Given the description of an element on the screen output the (x, y) to click on. 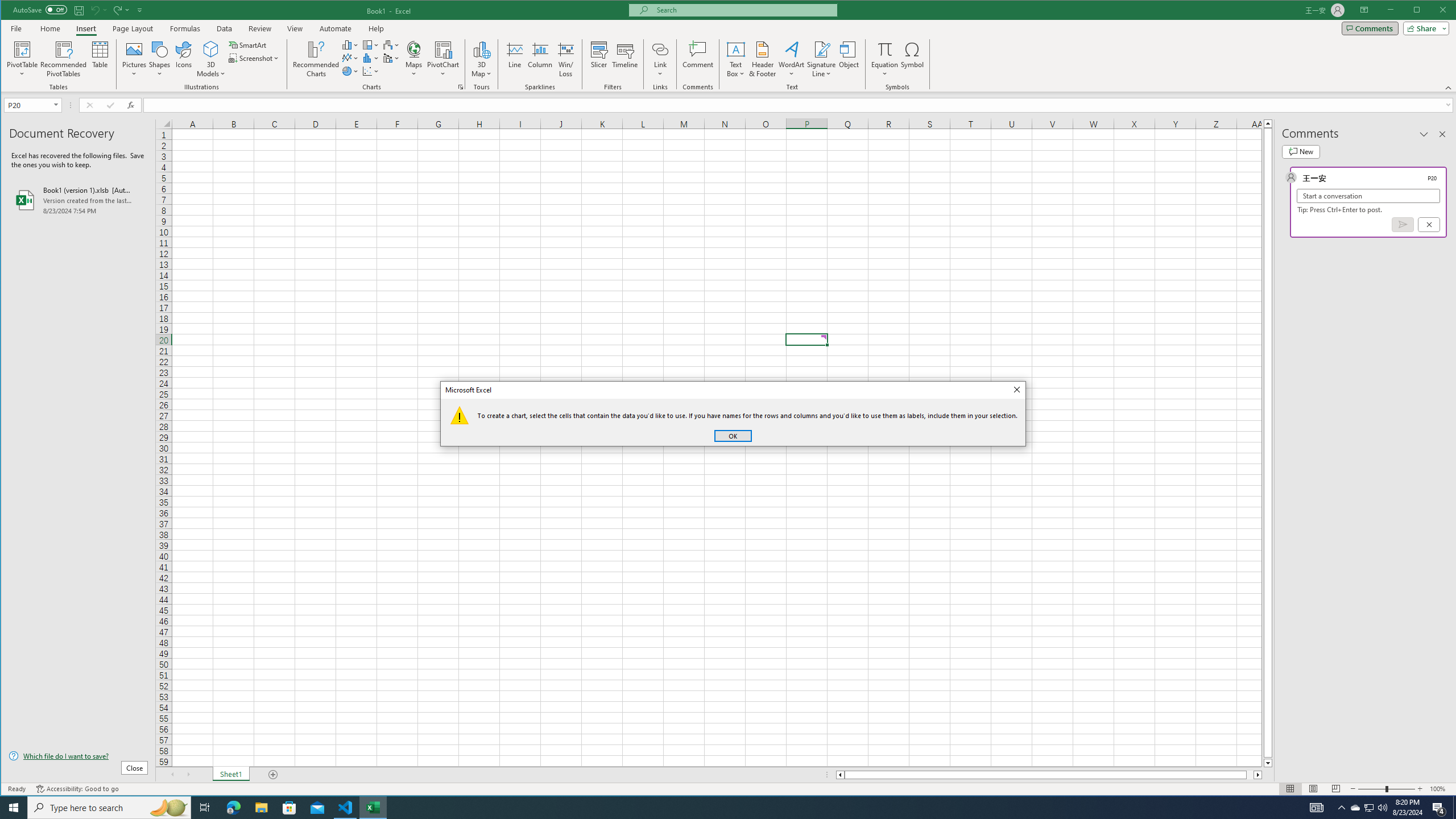
Insert Waterfall, Funnel, Stock, Surface, or Radar Chart (391, 44)
Ribbon Display Options (1364, 9)
Icons (183, 59)
Insert Combo Chart (391, 57)
Zoom In (1420, 788)
Visual Studio Code - 1 running window (345, 807)
PivotTable (22, 59)
Insert Line or Area Chart (350, 57)
PivotTable (22, 48)
Shapes (159, 59)
Accessibility Checker Accessibility: Good to go (77, 788)
Start a conversation (1368, 195)
